Given the description of an element on the screen output the (x, y) to click on. 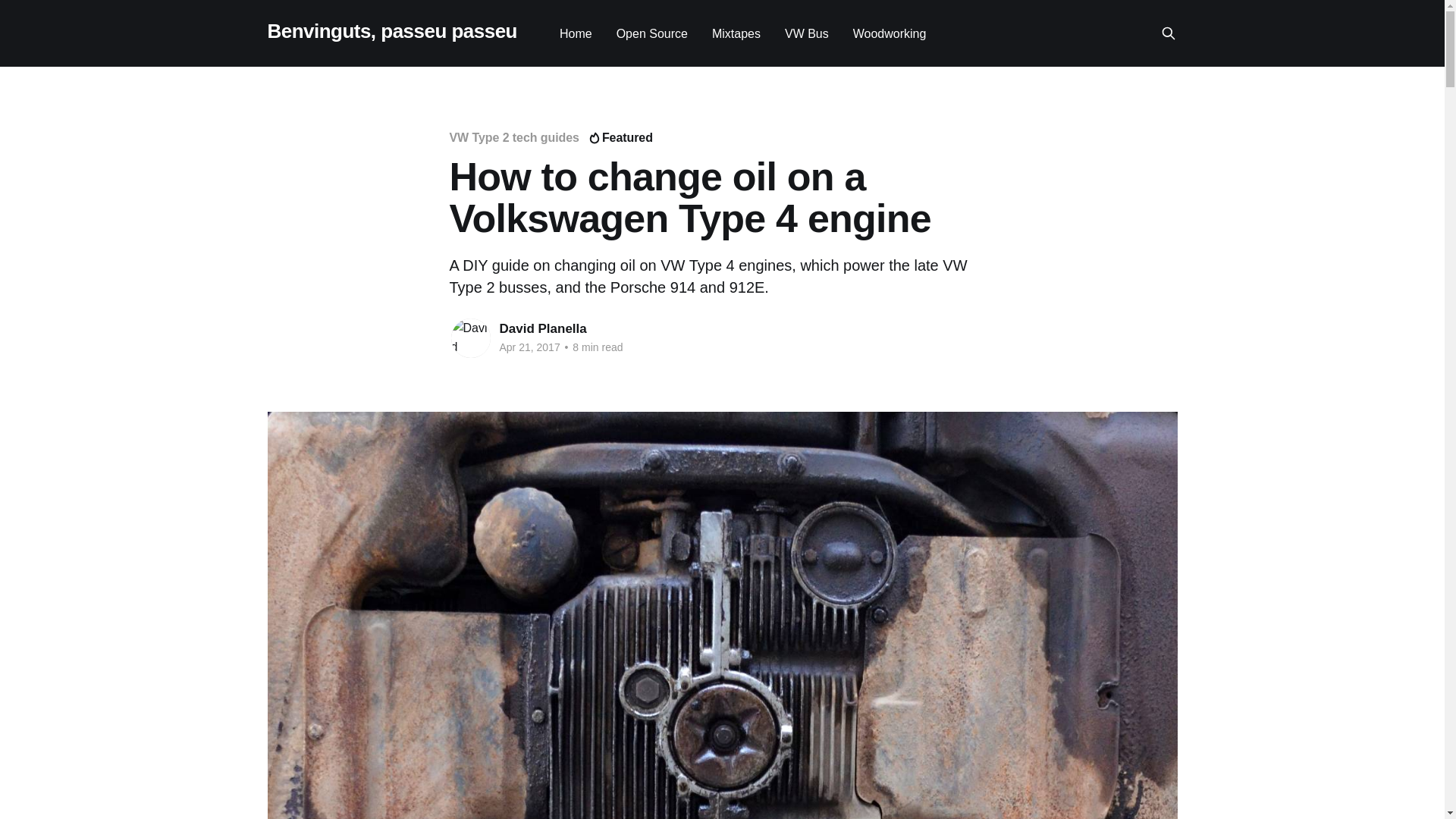
VW Bus (806, 33)
VW Type 2 tech guides (513, 137)
Home (575, 33)
Open Source (651, 33)
Woodworking (889, 33)
David Planella (542, 328)
Mixtapes (735, 33)
Benvinguts, passeu passeu (391, 31)
